Given the description of an element on the screen output the (x, y) to click on. 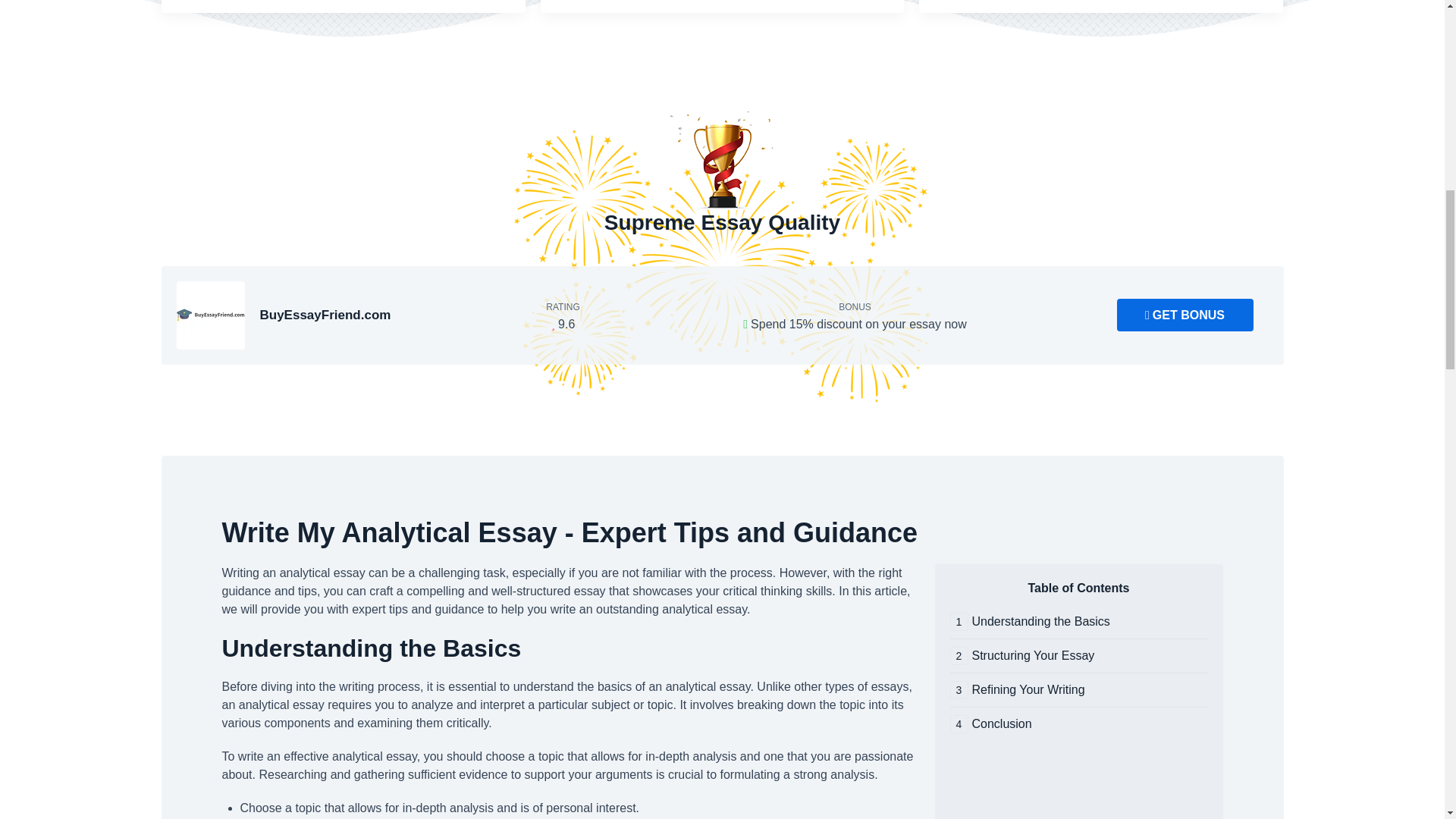
GET BONUS (1184, 314)
Conclusion (1078, 723)
BuyEssayFriend.com (210, 315)
Refining Your Writing (1078, 689)
Understanding the Basics (1078, 621)
Structuring Your Essay (1078, 656)
BuyEssayFriend.com (324, 314)
